Given the description of an element on the screen output the (x, y) to click on. 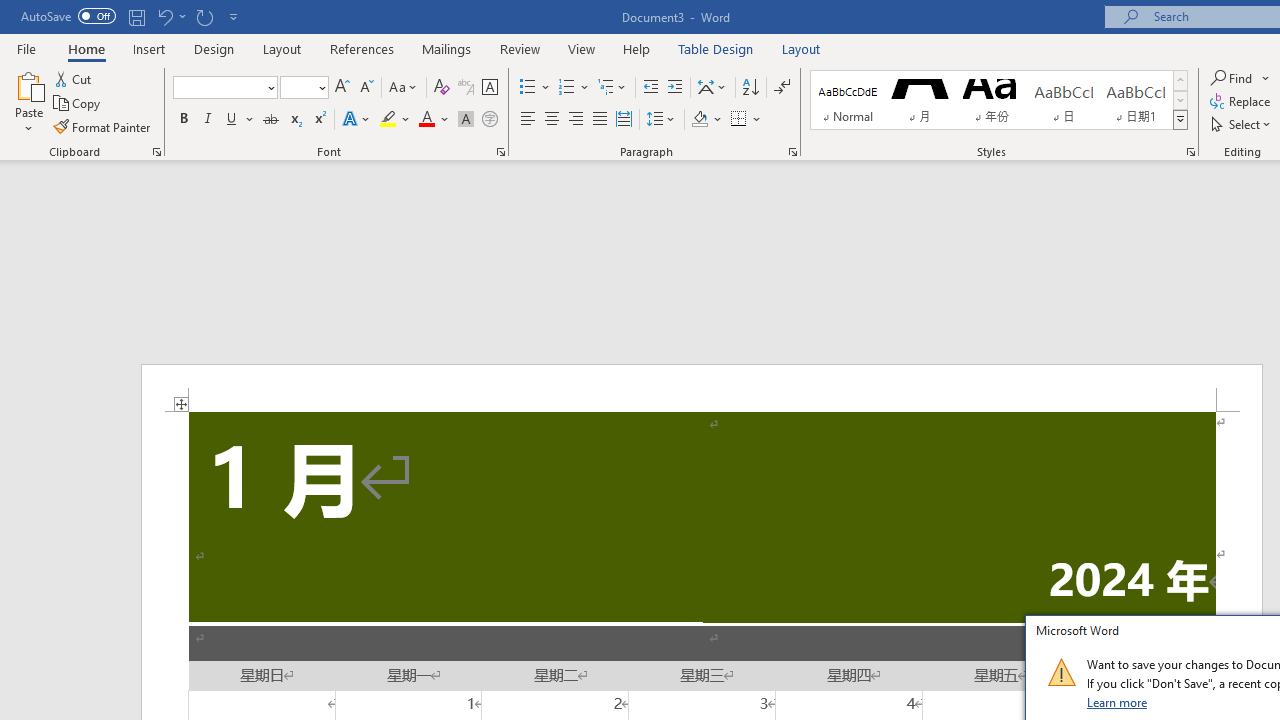
Borders (746, 119)
Find (1240, 78)
Layout (801, 48)
